Given the description of an element on the screen output the (x, y) to click on. 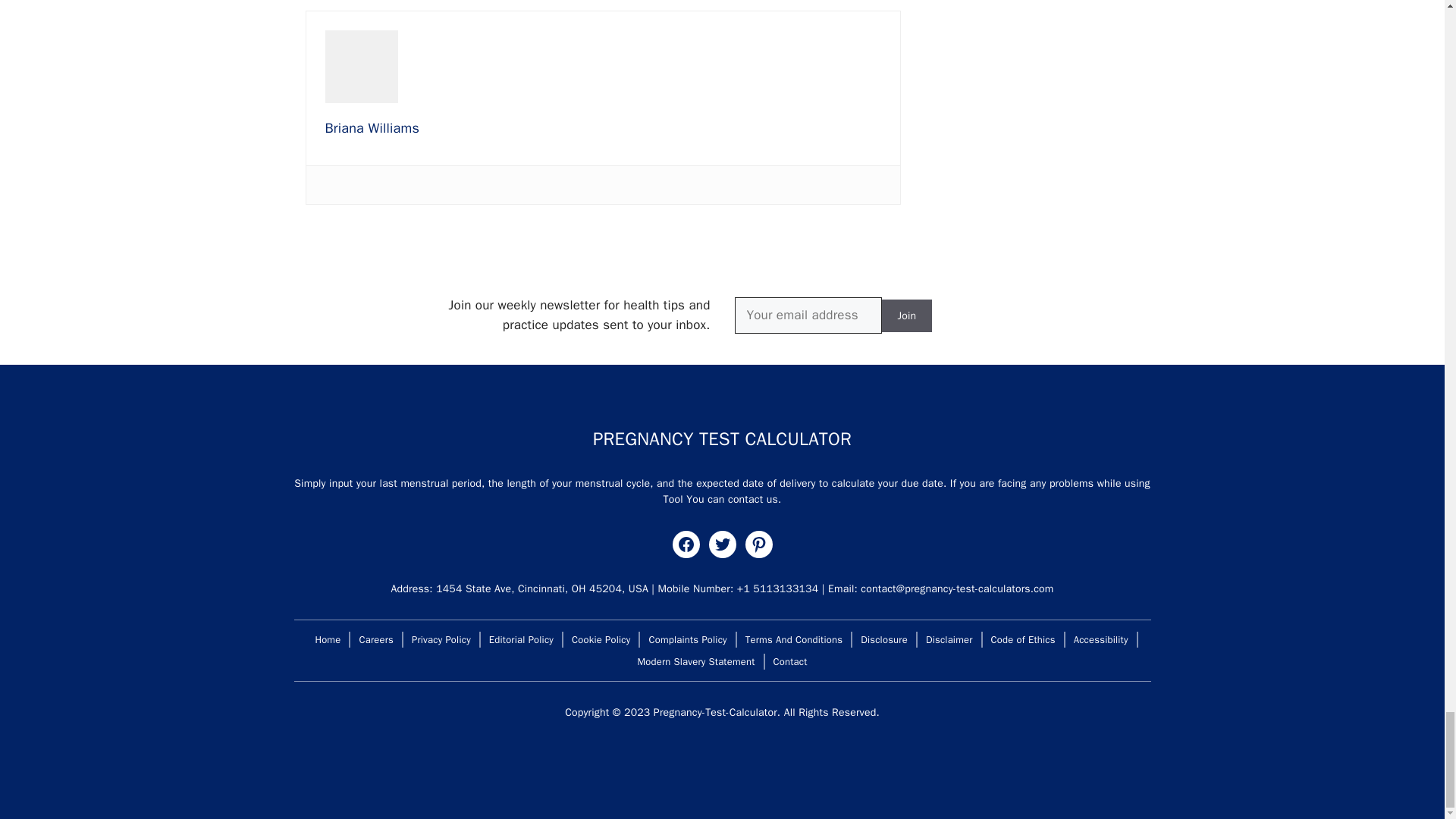
Briana Williams (371, 127)
Join (905, 315)
Join (905, 315)
Pinterest (757, 543)
Twitter (721, 543)
Facebook (684, 543)
